Given the description of an element on the screen output the (x, y) to click on. 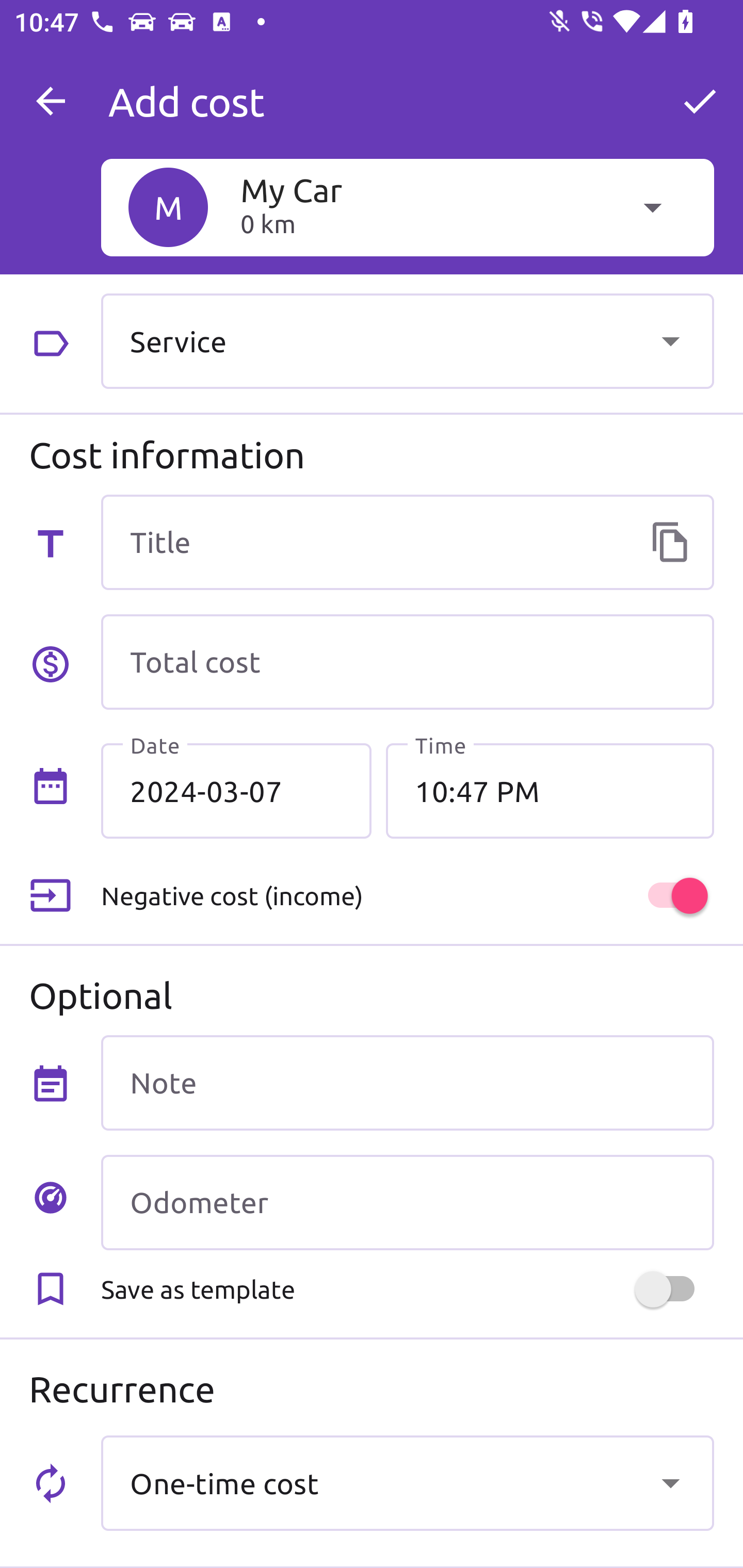
Navigate up (50, 101)
OK (699, 101)
M My Car 0 km (407, 206)
Service (407, 340)
Show dropdown menu (670, 340)
Title (407, 541)
Templates (670, 541)
Total cost  (407, 662)
2024-03-07 (236, 790)
10:47 PM (549, 790)
Negative cost (income) (407, 895)
Note (407, 1082)
Odometer (407, 1202)
Save as template (407, 1289)
One-time cost (407, 1482)
Show dropdown menu (670, 1482)
